Given the description of an element on the screen output the (x, y) to click on. 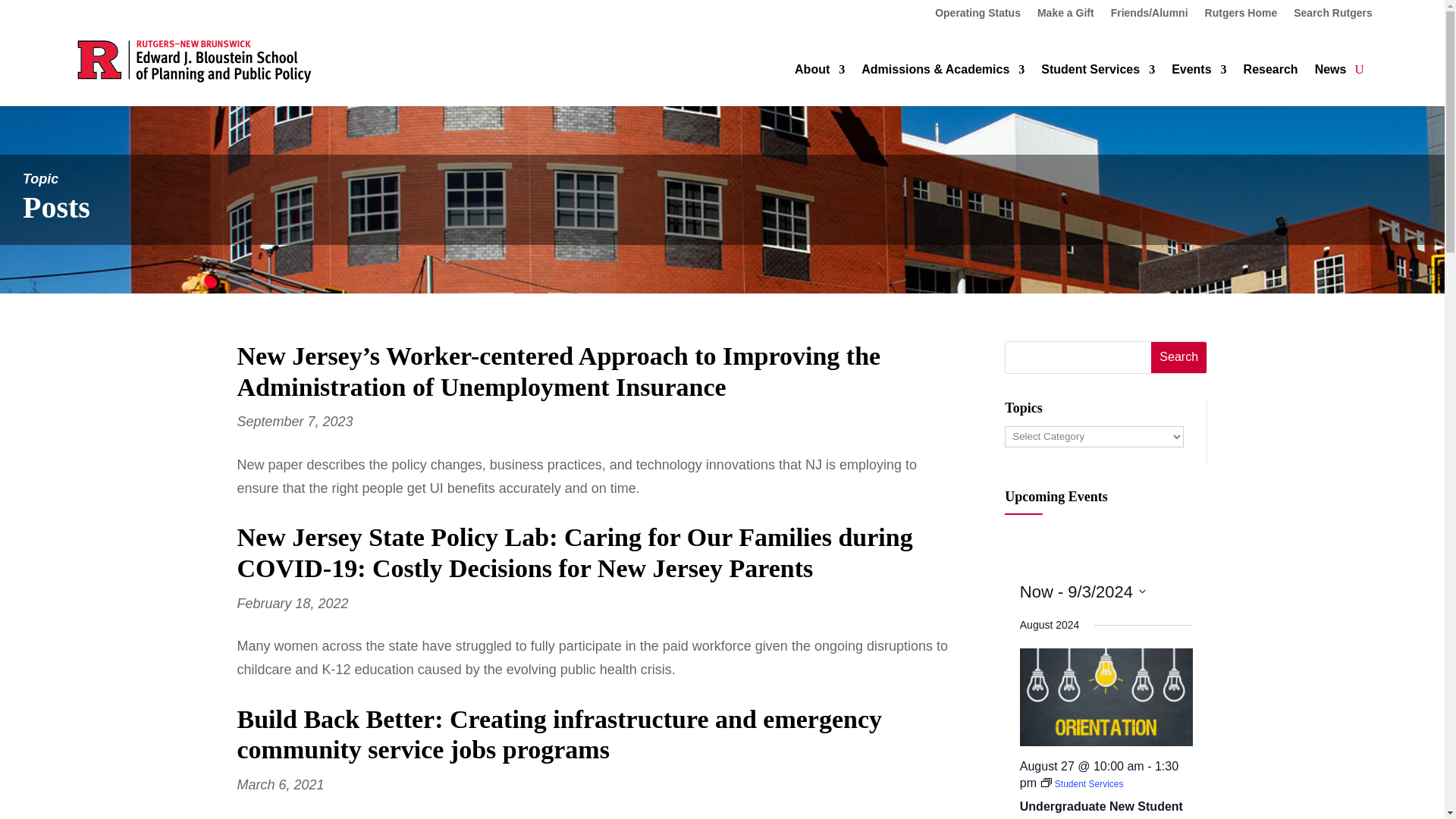
Event Series (1046, 782)
Rutgers Home (1241, 15)
Event Series (1081, 783)
Search (1179, 357)
Search Rutgers (1332, 15)
Click to toggle datepicker (1082, 591)
About (819, 72)
Make a Gift (1065, 15)
Search (1179, 357)
Operating Status (977, 15)
